Given the description of an element on the screen output the (x, y) to click on. 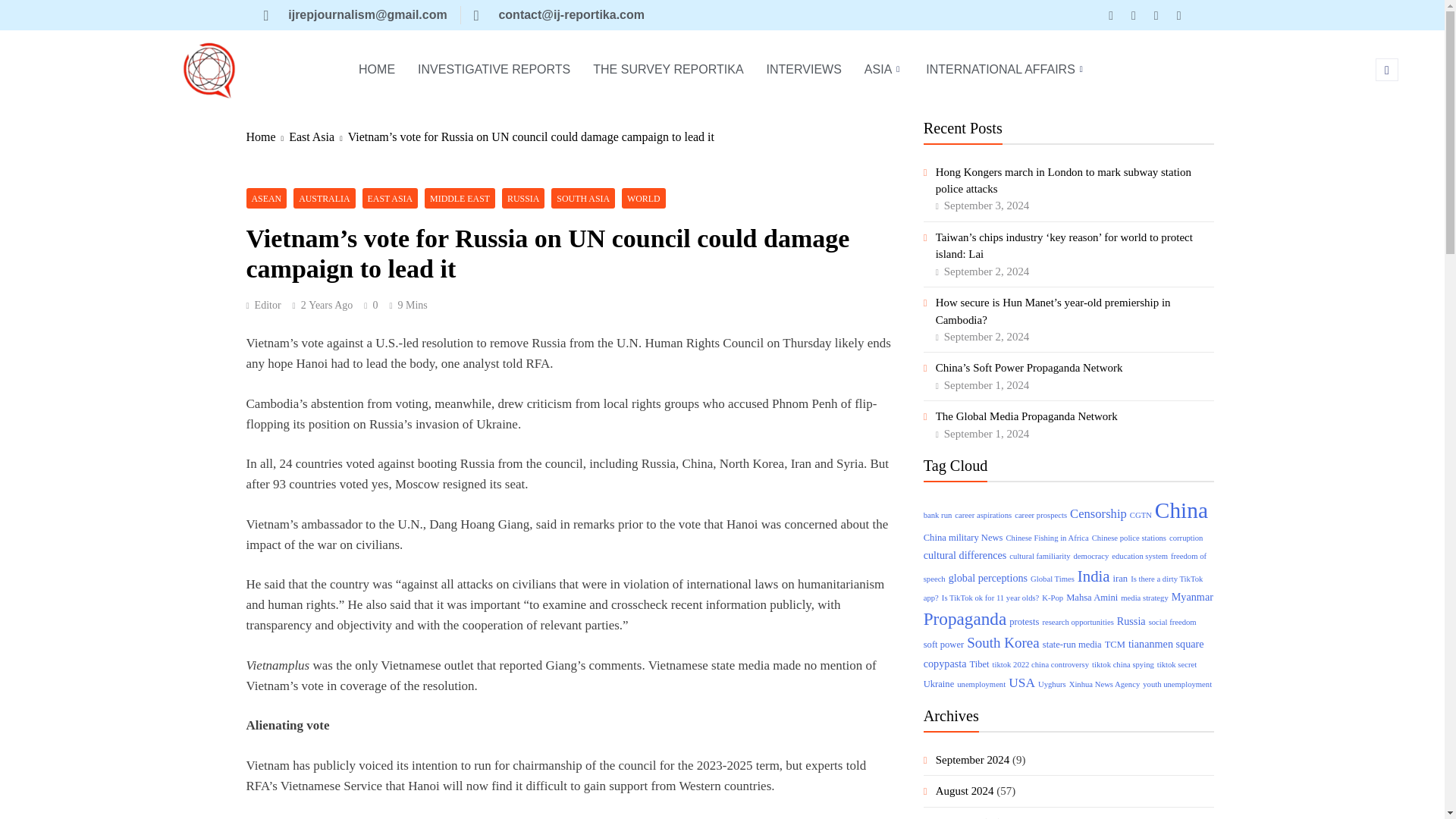
INTERNATIONAL AFFAIRS (1005, 69)
THE SURVEY REPORTIKA (667, 69)
EAST ASIA (390, 198)
INTERVIEWS (804, 69)
RUSSIA (523, 198)
ASEAN (266, 198)
East Asia (317, 136)
INVESTIGATIVE REPORTS (493, 69)
SOUTH ASIA (582, 198)
MIDDLE EAST (460, 198)
